Given the description of an element on the screen output the (x, y) to click on. 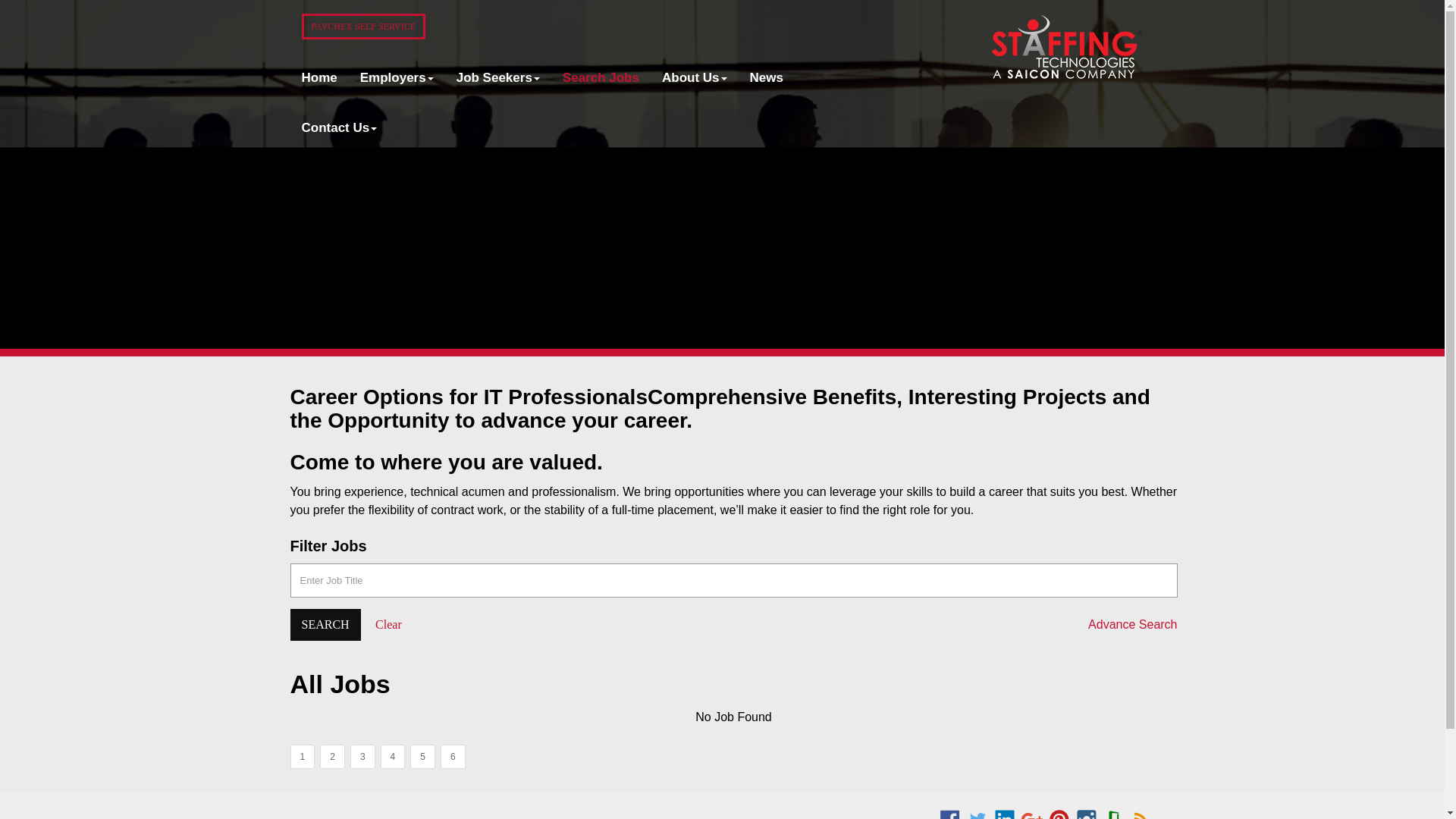
2 (332, 756)
Home (318, 78)
Employers (397, 78)
SEARCH (324, 624)
About Us (694, 78)
Search Jobs (600, 78)
News (766, 78)
Contact Us (338, 128)
4 (393, 756)
Job Seekers (498, 78)
